Given the description of an element on the screen output the (x, y) to click on. 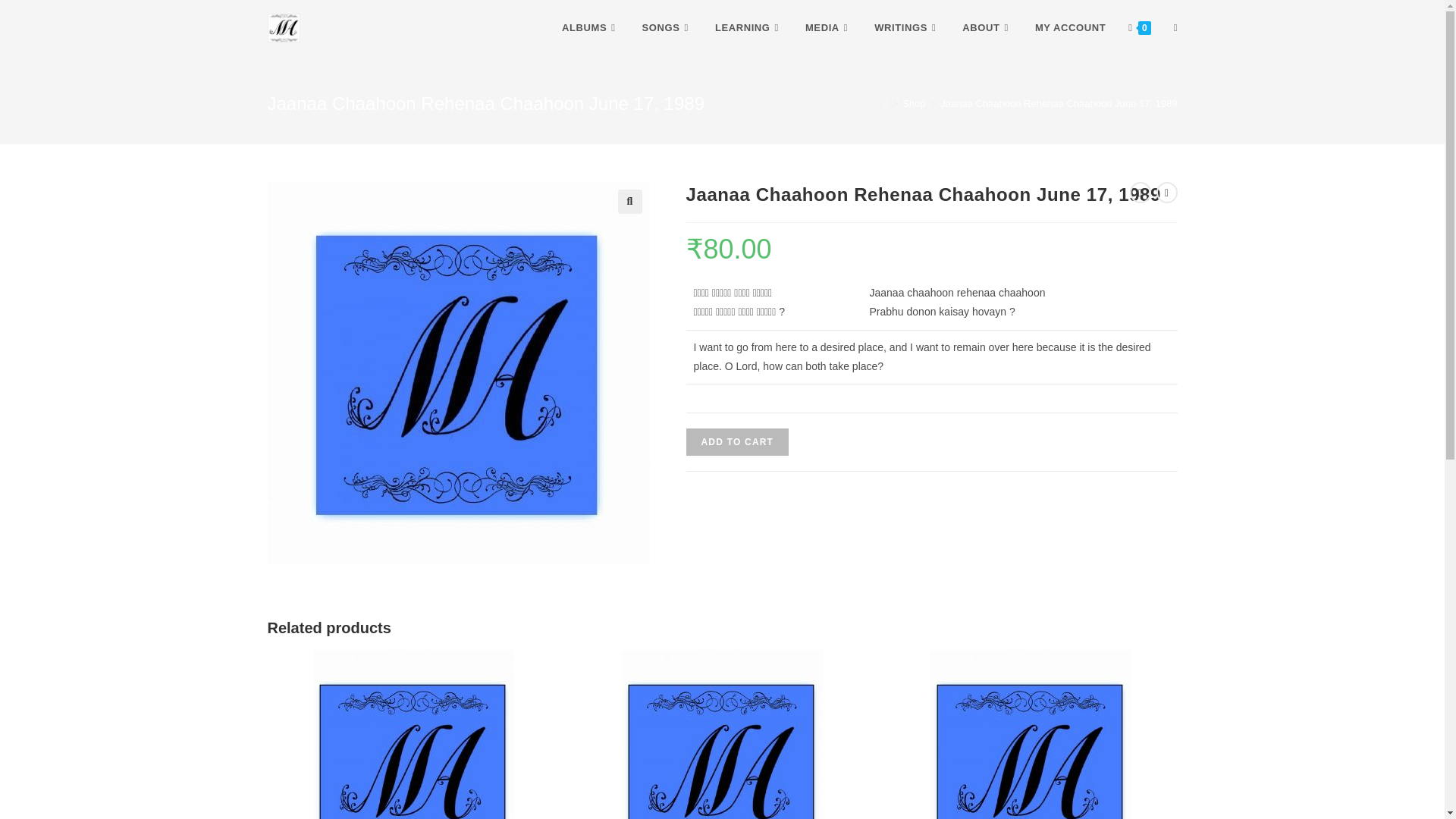
ABOUT (986, 28)
WRITINGS (906, 28)
SONGS (666, 28)
MY ACCOUNT (1069, 28)
MEDIA (828, 28)
ALBUMS (590, 28)
LEARNING (748, 28)
